Given the description of an element on the screen output the (x, y) to click on. 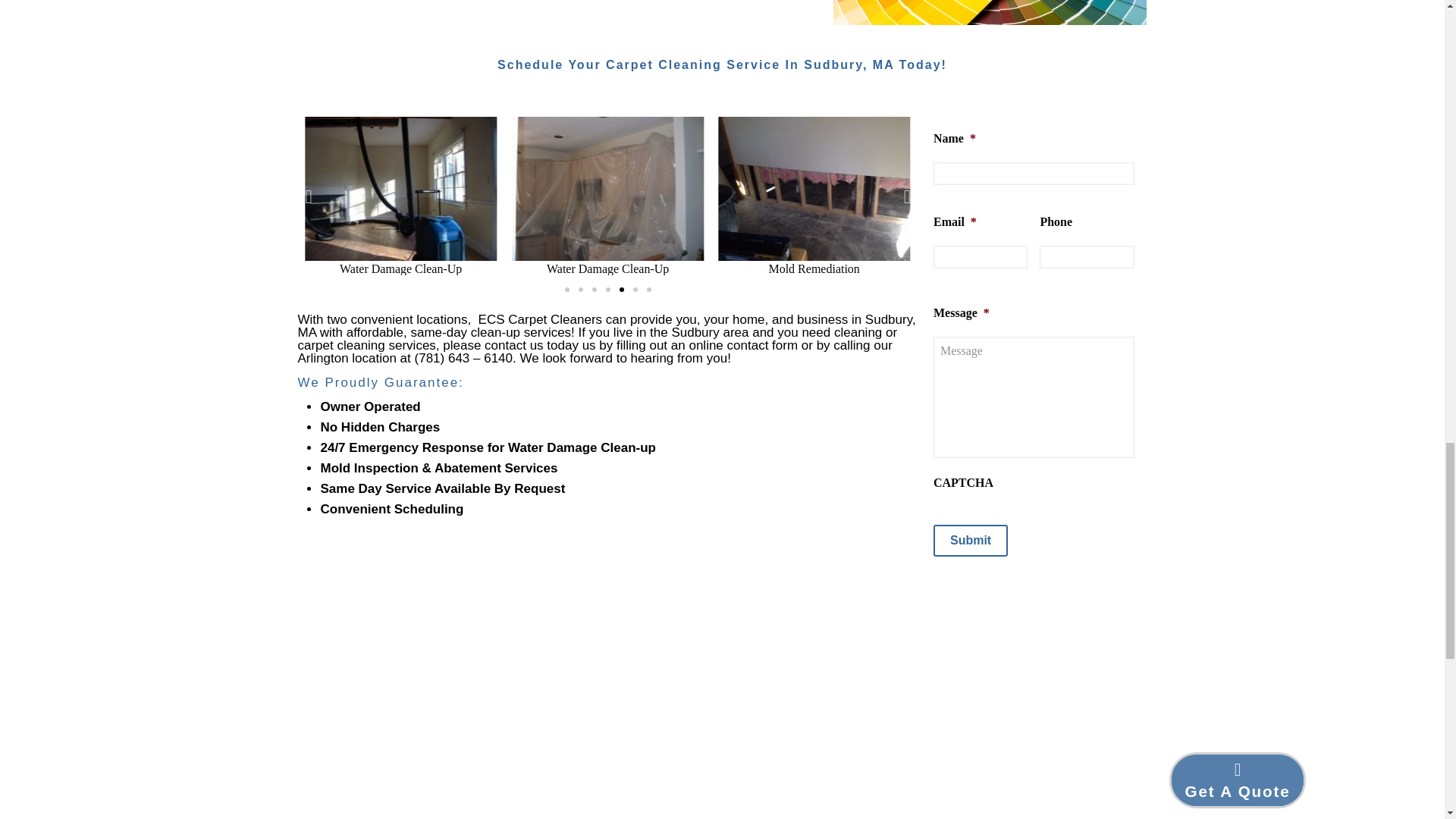
Submit (970, 540)
